Given the description of an element on the screen output the (x, y) to click on. 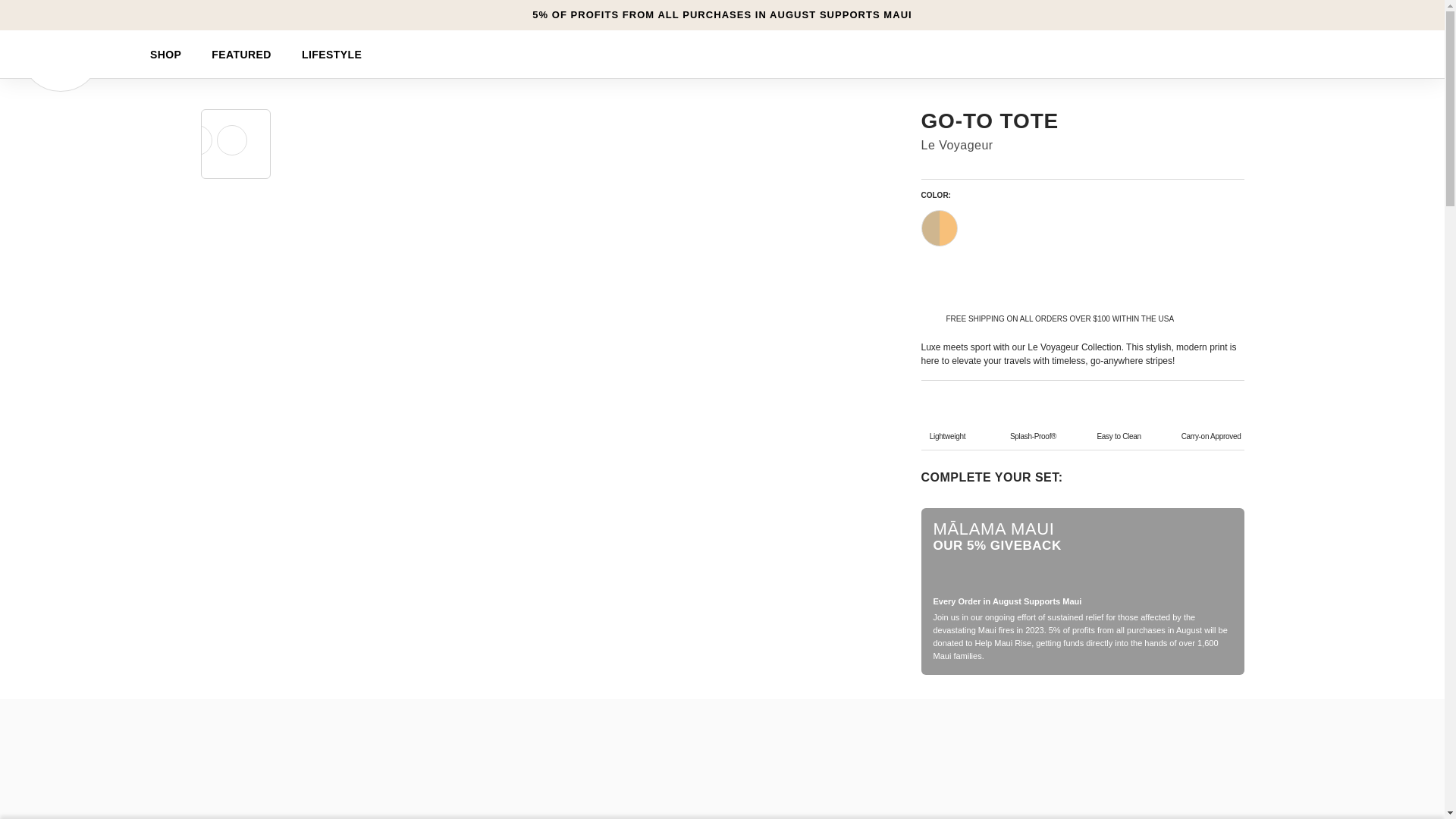
LIFESTYLE (331, 54)
FEATURED (241, 54)
SHOP (165, 54)
